Given the description of an element on the screen output the (x, y) to click on. 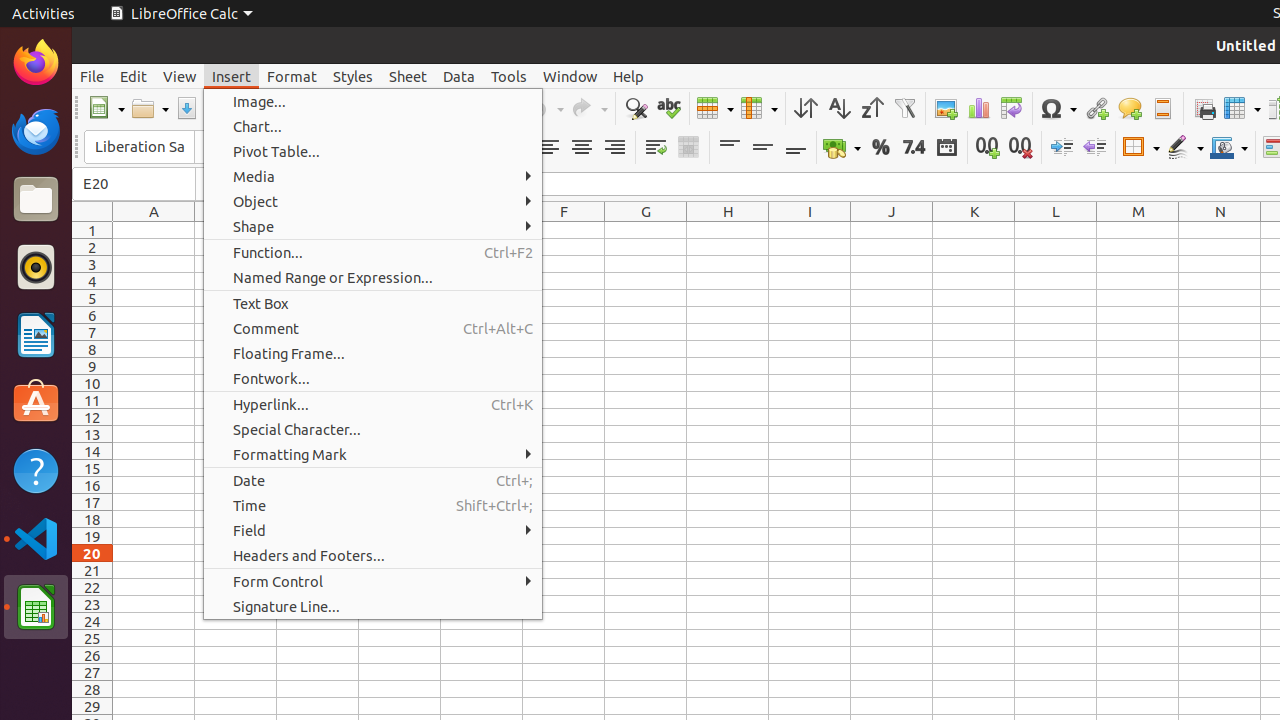
Media Element type: menu (373, 176)
Help Element type: menu (628, 76)
Currency Element type: push-button (842, 147)
Pivot Table Element type: push-button (1011, 108)
G1 Element type: table-cell (646, 230)
